Given the description of an element on the screen output the (x, y) to click on. 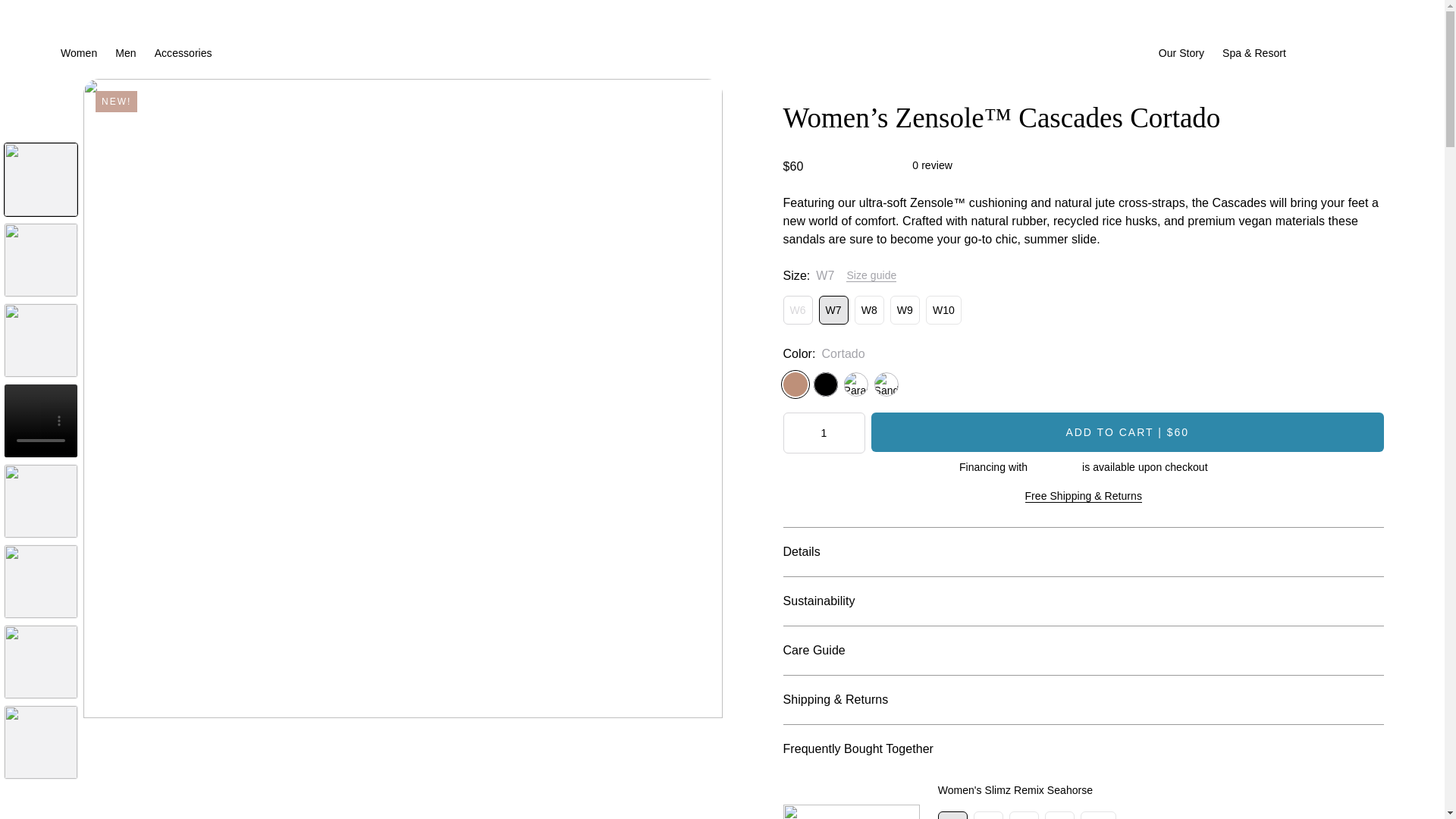
Accessories (183, 52)
Care Guide (1075, 650)
Size guide (870, 274)
Sustainability (1075, 600)
Women (79, 52)
Our Story (1181, 52)
Frequently Bought Together (1075, 749)
Men (125, 52)
Details (1075, 551)
